Given the description of an element on the screen output the (x, y) to click on. 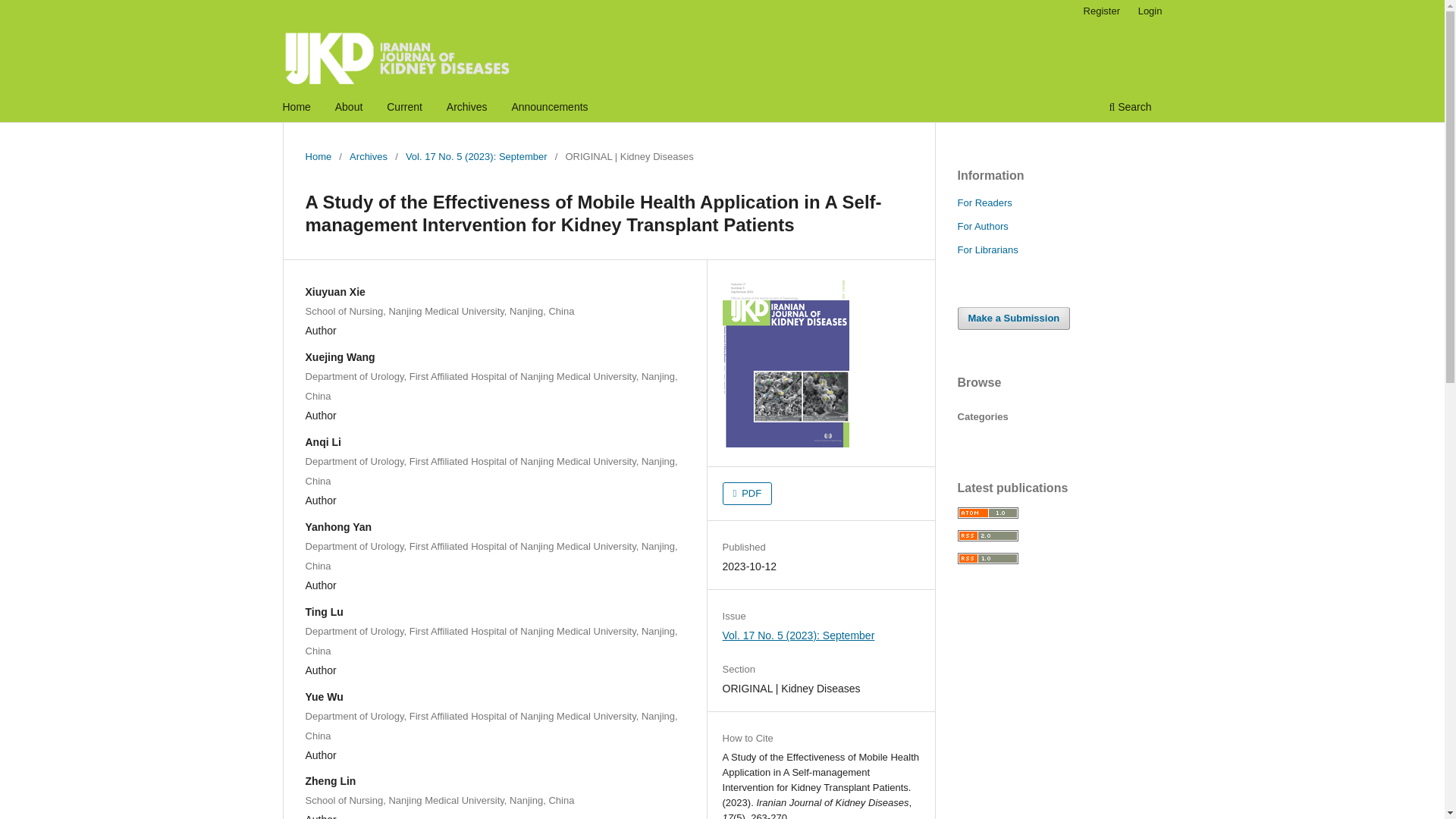
Archives (467, 108)
Current (404, 108)
Home (317, 156)
PDF (747, 493)
Register (1100, 11)
Login (1150, 11)
Announcements (548, 108)
Archives (368, 156)
About (349, 108)
Home (296, 108)
